Given the description of an element on the screen output the (x, y) to click on. 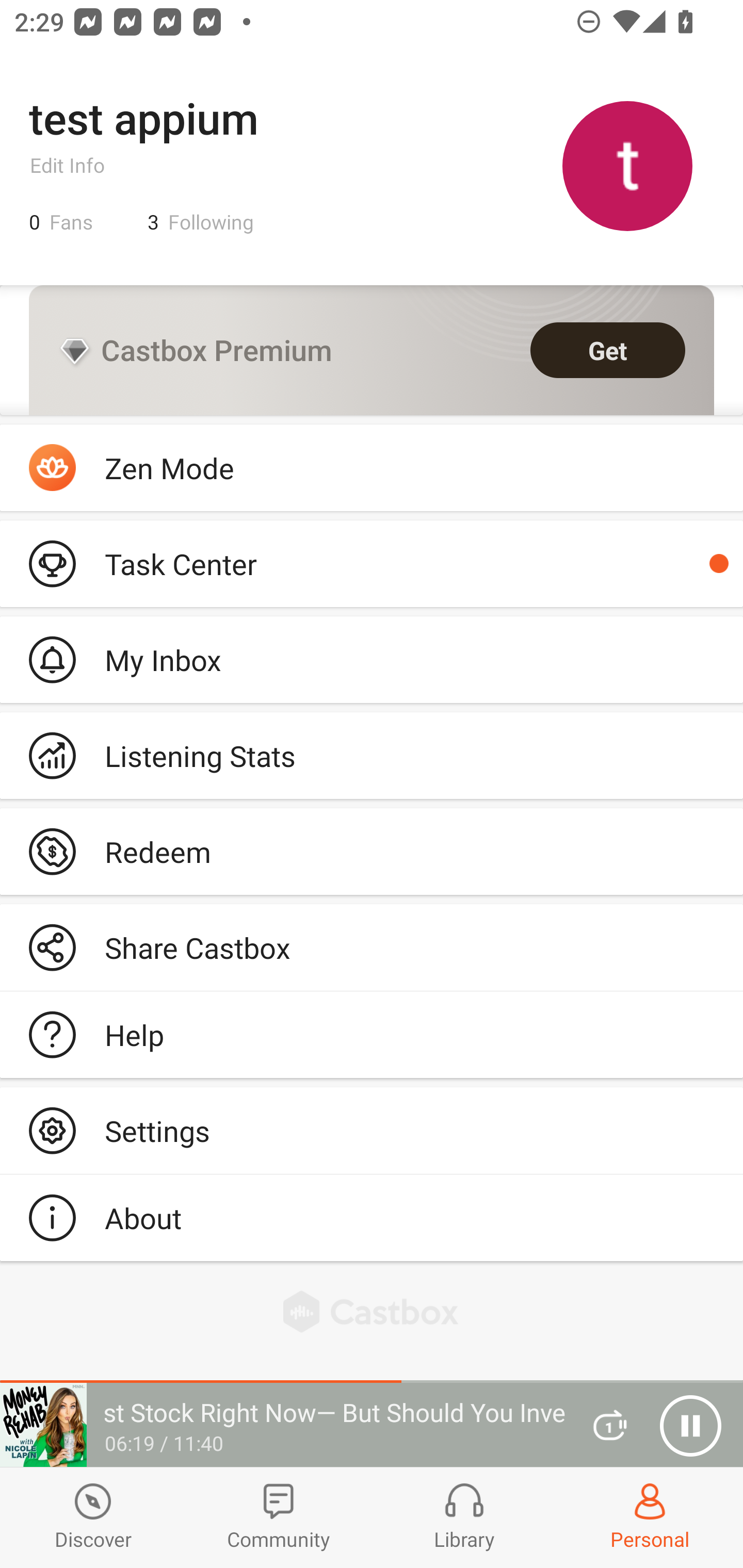
test appium Edit Info 0 Fans 3 Following (371, 165)
0 Fans (60, 221)
3 Following (200, 221)
Castbox Premium Get (371, 350)
Get (607, 350)
Zen Mode (371, 467)
Podcaster  Task Center (371, 563)
 My Inbox (371, 659)
 Listening Stats (371, 755)
 Redeem (371, 851)
 Share Castbox (371, 947)
 Help (371, 1034)
 Settings (371, 1130)
 About (371, 1217)
Pause (690, 1425)
Discover (92, 1517)
Community (278, 1517)
Library (464, 1517)
Profiles and Settings Personal (650, 1517)
